Given the description of an element on the screen output the (x, y) to click on. 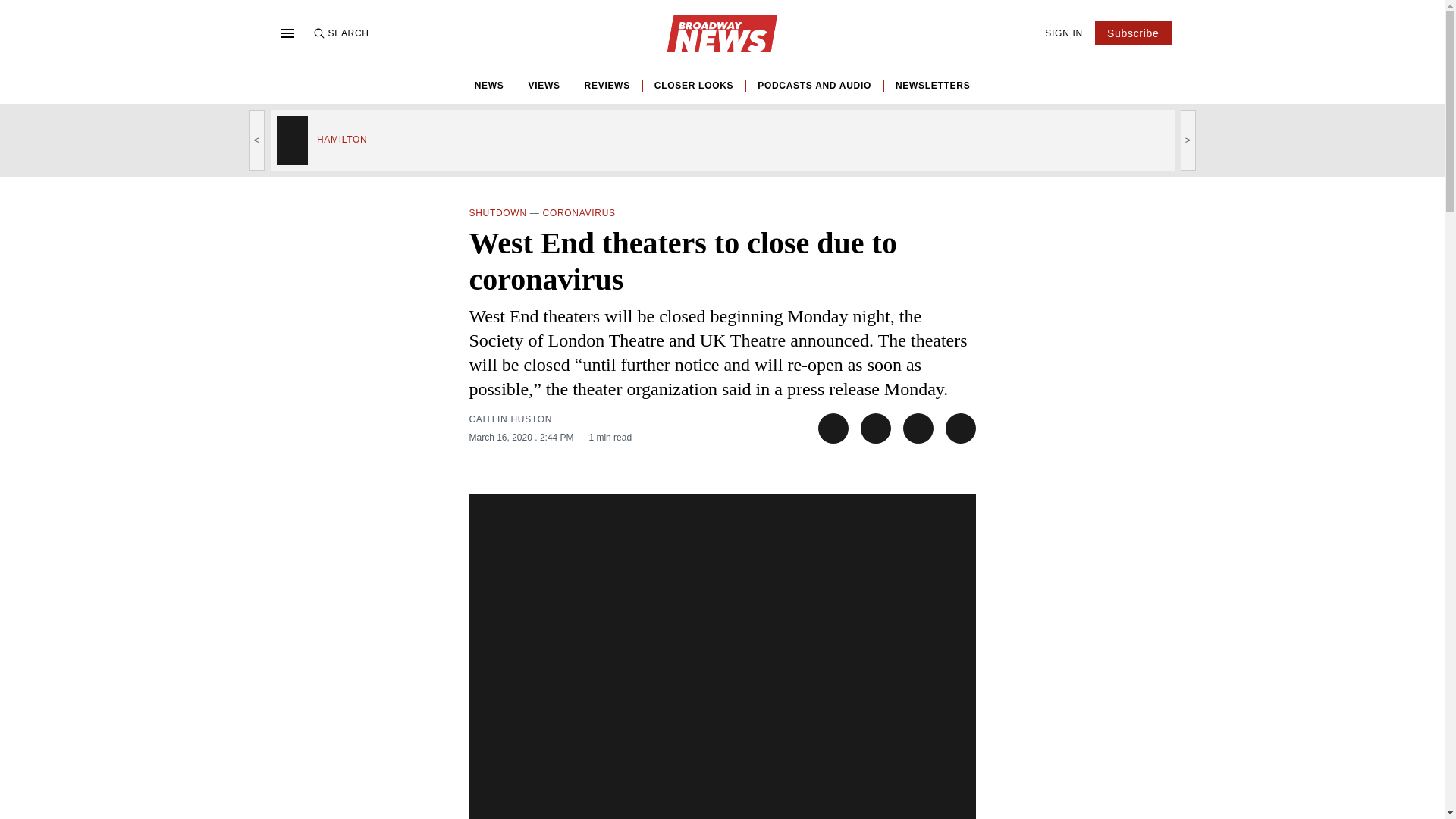
REVIEWS (607, 85)
SEARCH (340, 33)
NEWS (488, 85)
SIGN IN (1064, 33)
PODCASTS AND AUDIO (813, 85)
NEWSLETTERS (932, 85)
CLOSER LOOKS (693, 85)
VIEWS (543, 85)
Subscribe (1133, 33)
